Given the description of an element on the screen output the (x, y) to click on. 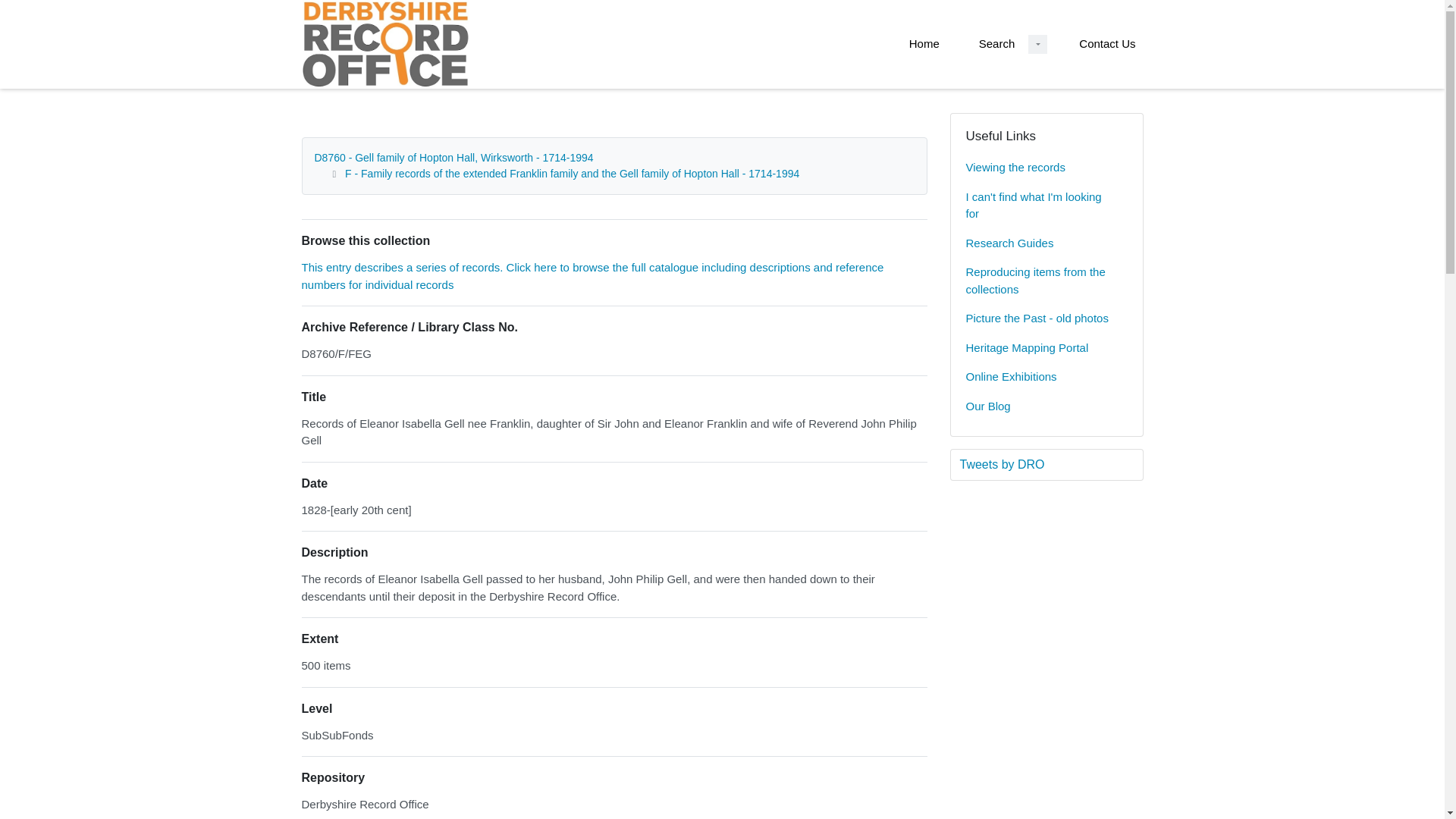
Research Guides (1046, 243)
Reproducing items from the collections (1046, 280)
D8760 - Gell family of Hopton Hall, Wirksworth - 1714-1994 (453, 157)
Heritage Mapping Portal (1046, 348)
Tweets by DRO (1046, 464)
Our Blog (1046, 406)
Viewing the records (1046, 167)
I can't find what I'm looking for (1046, 205)
Browse record in hierarchy. (592, 276)
Online Exhibitions (1046, 377)
Picture the Past - old photos (1046, 318)
Homepage (343, 44)
